Given the description of an element on the screen output the (x, y) to click on. 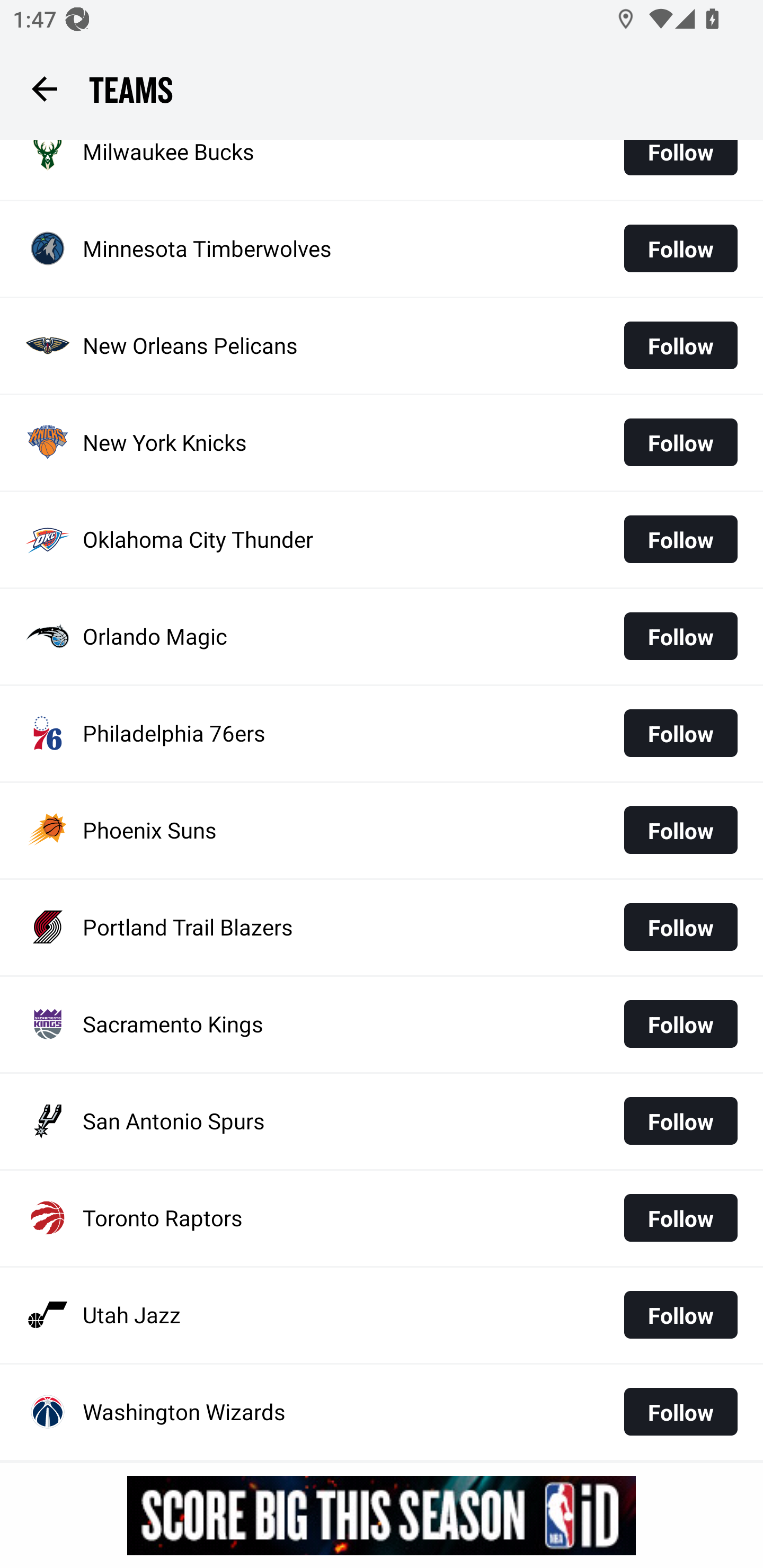
Back button (44, 88)
Milwaukee Bucks Follow (381, 169)
Follow (680, 164)
Minnesota Timberwolves Follow (381, 248)
Follow (680, 248)
New Orleans Pelicans Follow (381, 345)
Follow (680, 345)
New York Knicks Follow (381, 442)
Follow (680, 441)
Oklahoma City Thunder Follow (381, 540)
Follow (680, 539)
Orlando Magic Follow (381, 636)
Follow (680, 635)
Philadelphia 76ers Follow (381, 733)
Follow (680, 732)
Phoenix Suns Follow (381, 830)
Follow (680, 829)
Portland Trail Blazers Follow (381, 927)
Follow (680, 927)
Sacramento Kings Follow (381, 1024)
Follow (680, 1023)
San Antonio Spurs Follow (381, 1121)
Follow (680, 1120)
Toronto Raptors Follow (381, 1218)
Follow (680, 1217)
Utah Jazz Follow (381, 1314)
Follow (680, 1314)
Washington Wizards Follow (381, 1411)
Follow (680, 1411)
